Given the description of an element on the screen output the (x, y) to click on. 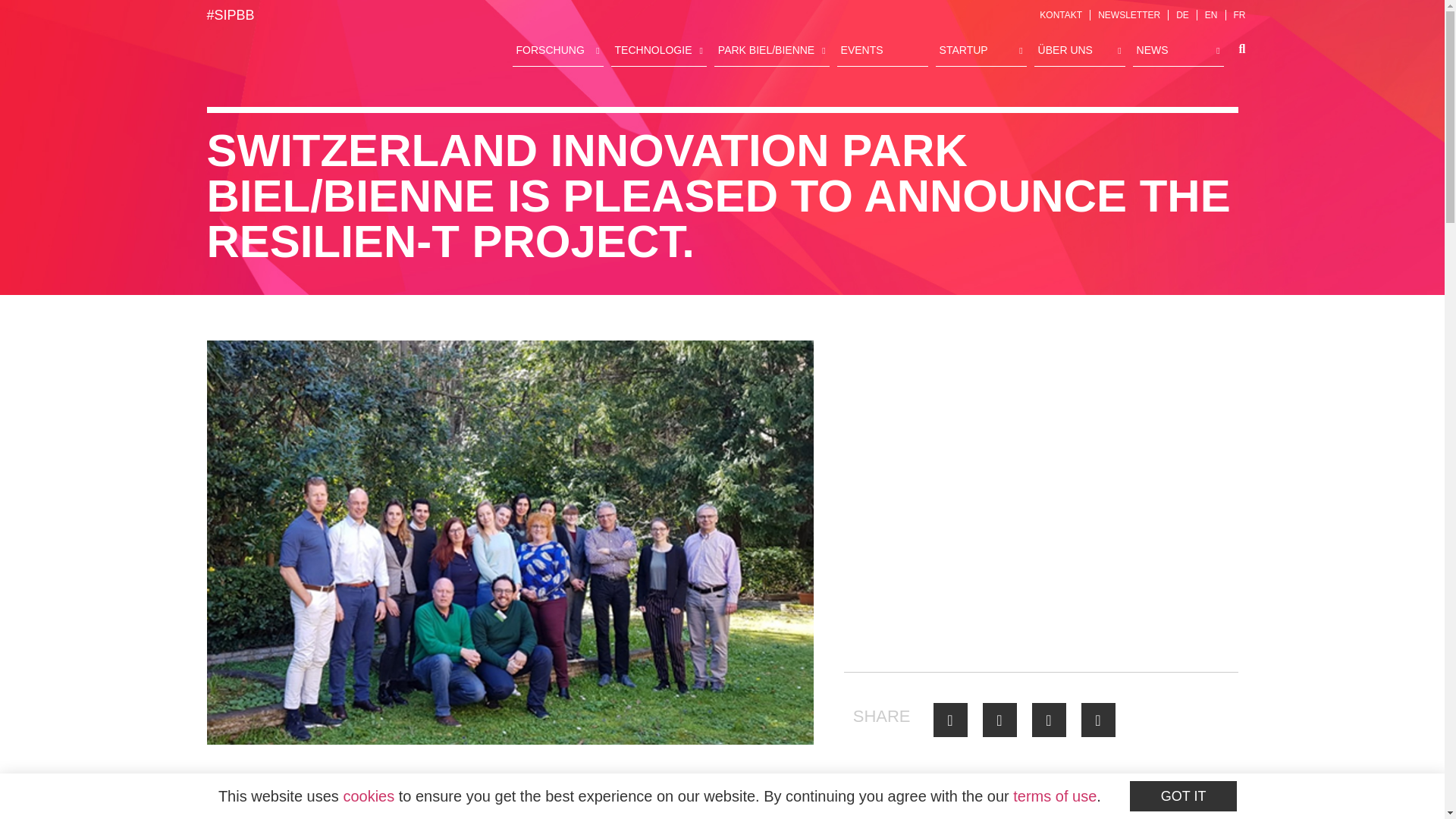
KONTAKT (1060, 15)
STARTUP (981, 52)
NEWSLETTER (1128, 15)
FR (1238, 15)
EN (1210, 15)
NEWS (1178, 52)
English (1210, 15)
EVENTS (882, 52)
DE (1182, 15)
FORSCHUNG (558, 52)
TECHNOLOGIE (658, 52)
Deutsch (1182, 15)
